Given the description of an element on the screen output the (x, y) to click on. 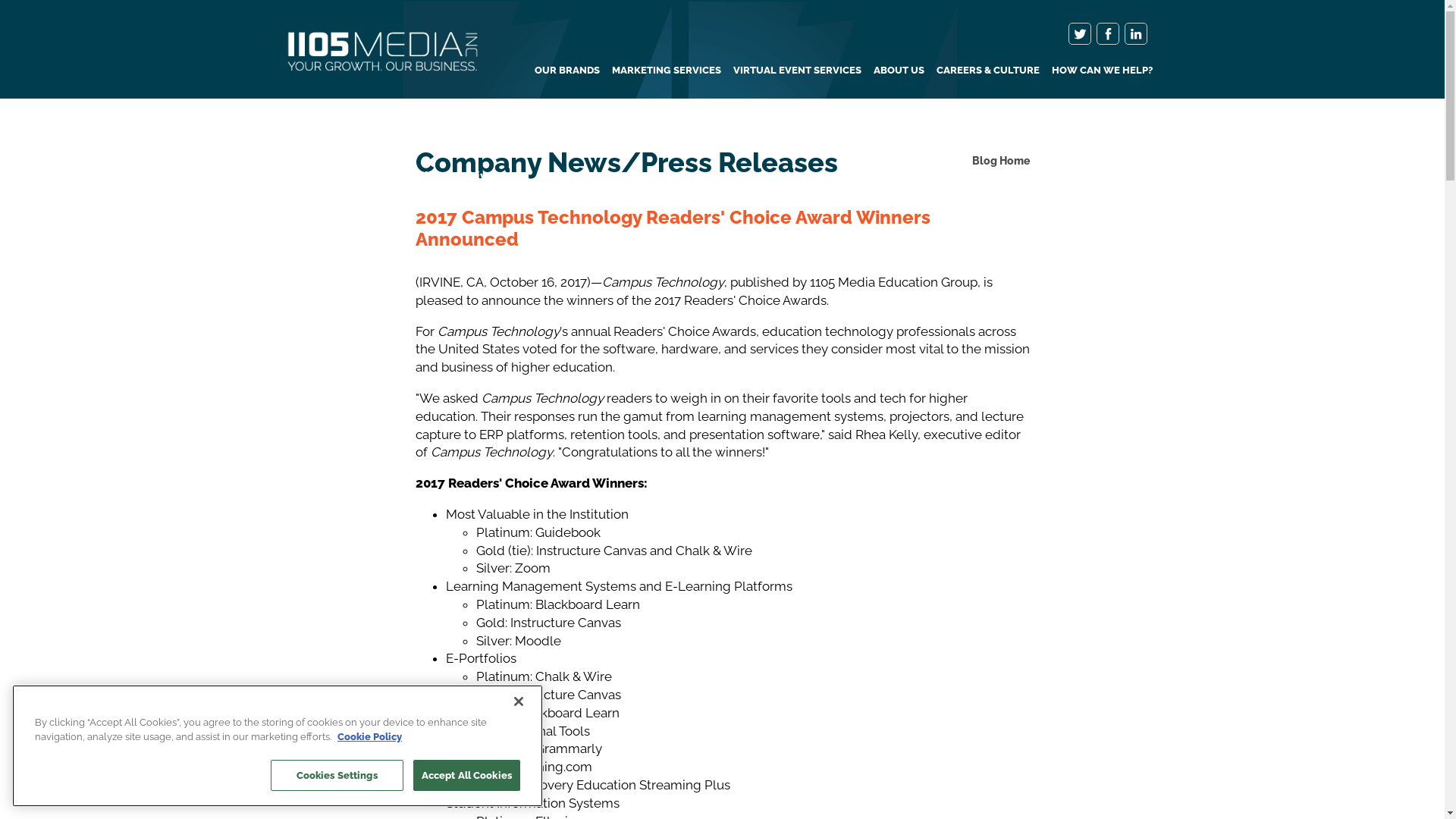
OUR BRANDS Element type: text (566, 69)
Cookies Settings Element type: text (336, 775)
ABOUT US Element type: text (898, 69)
CAREERS & CULTURE Element type: text (986, 69)
HOW CAN WE HELP? Element type: text (1100, 69)
Blog archive Element type: text (454, 175)
Cookie Policy Element type: text (369, 737)
MARKETING SERVICES Element type: text (665, 69)
Accept All Cookies Element type: text (466, 775)
VIRTUAL EVENT SERVICES Element type: text (796, 69)
